Given the description of an element on the screen output the (x, y) to click on. 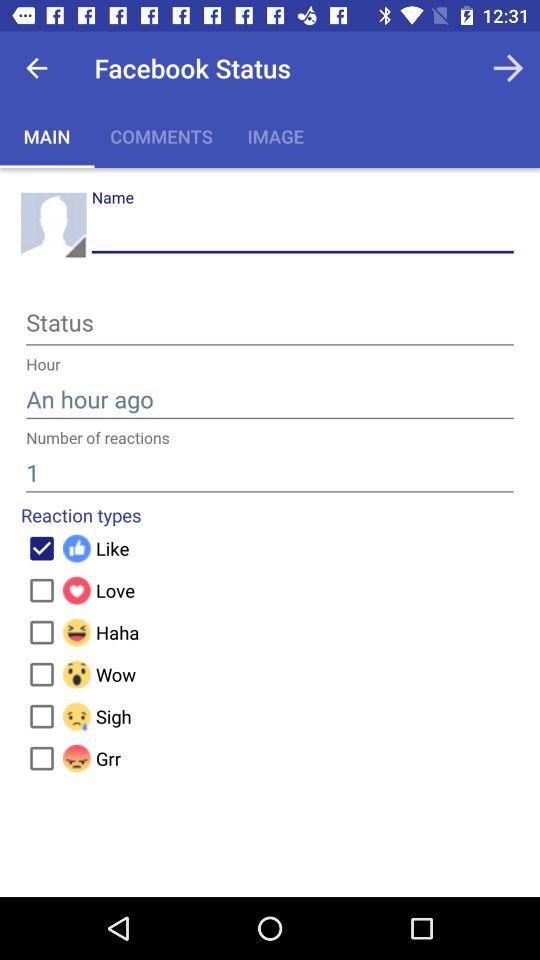
status button (270, 325)
